Given the description of an element on the screen output the (x, y) to click on. 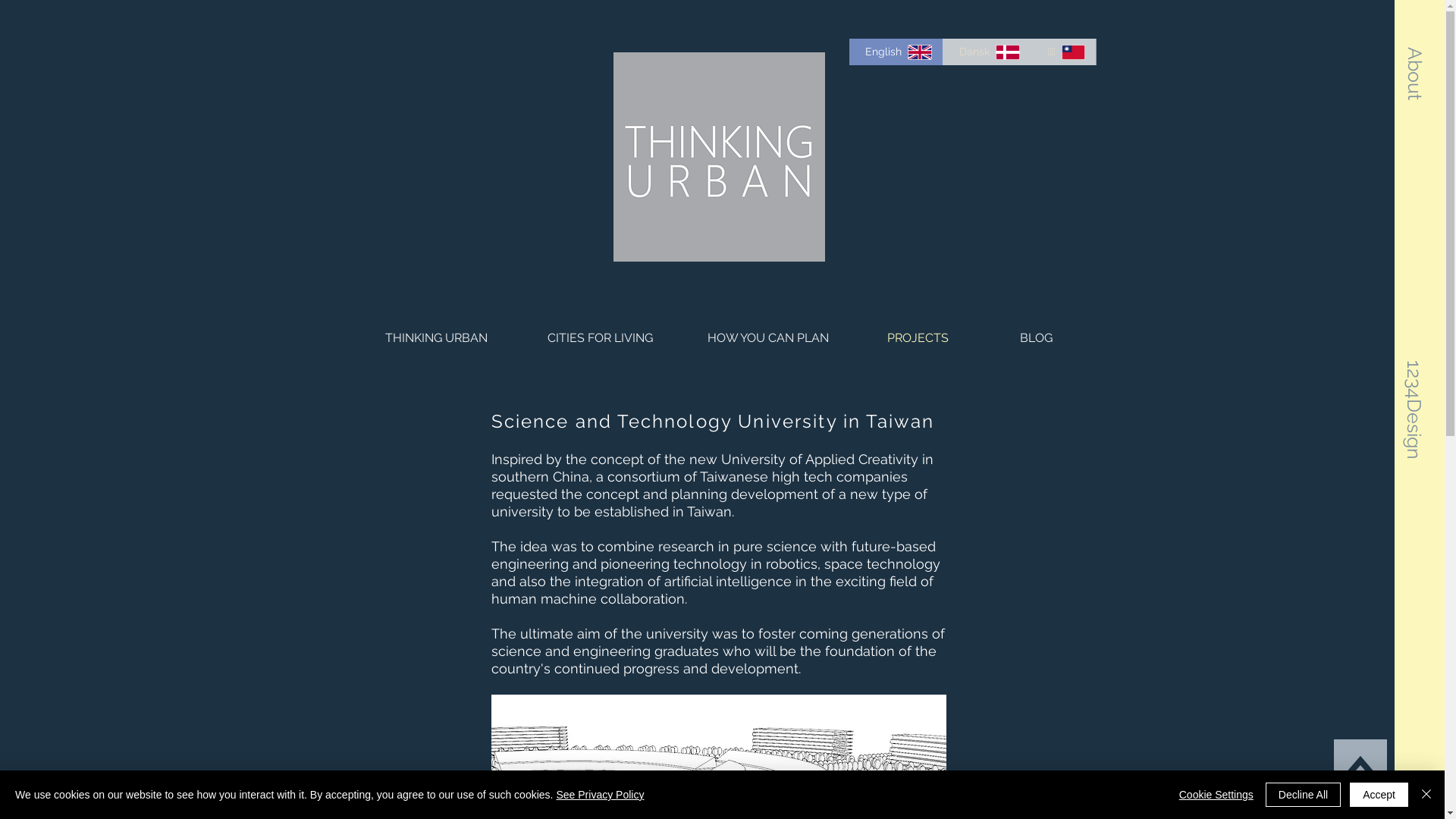
PROJECTS Element type: text (916, 337)
HOW YOU CAN PLAN Element type: text (768, 337)
English Element type: text (895, 51)
CITIES FOR LIVING Element type: text (599, 337)
BLOG Element type: text (1035, 337)
Dansk Element type: text (986, 51)
See Privacy Policy Element type: text (599, 794)
Accept Element type: text (1378, 794)
THINKING URBAN Element type: text (435, 337)
Decline All Element type: text (1302, 794)
